Given the description of an element on the screen output the (x, y) to click on. 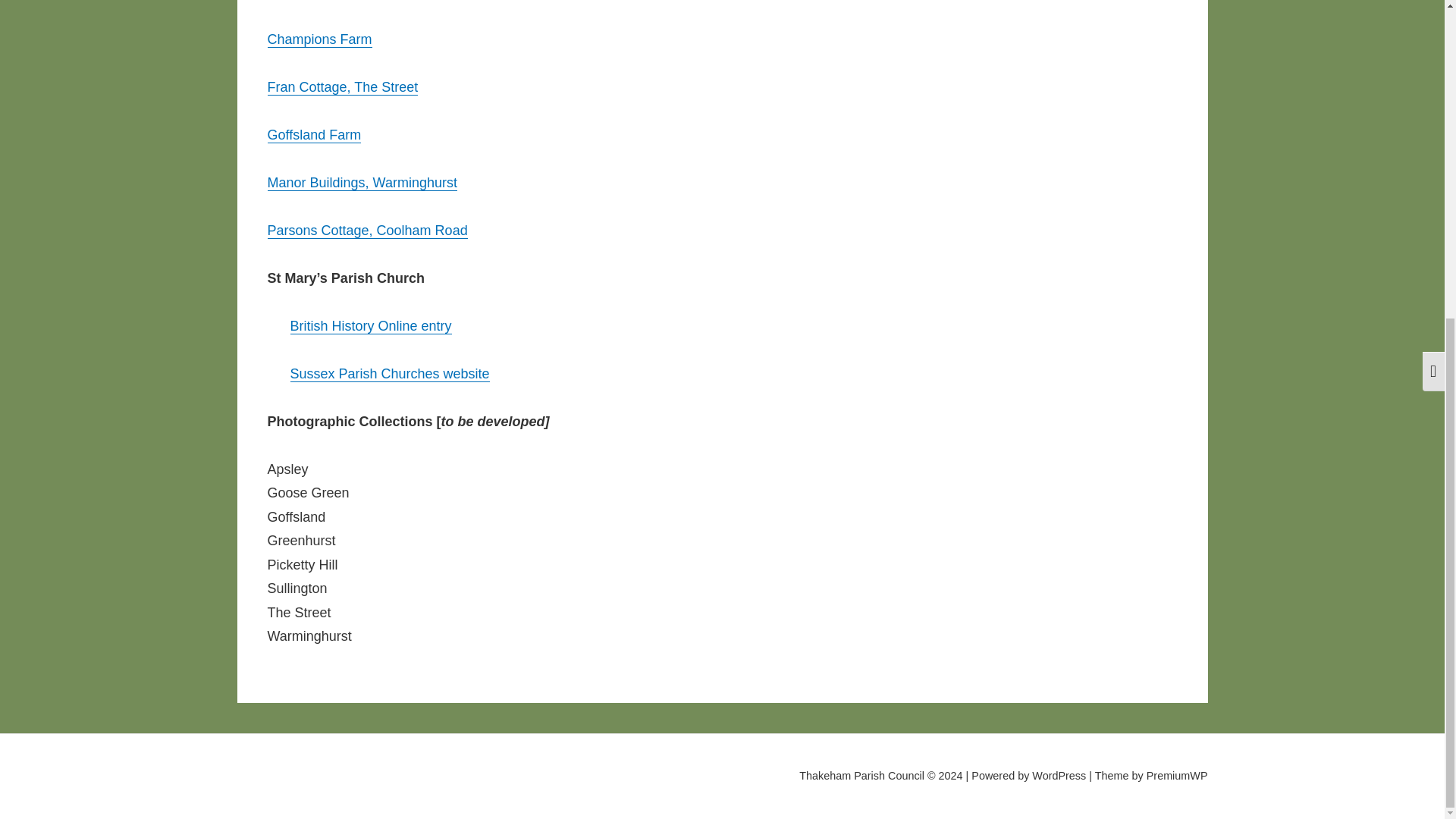
Parsons Cottage, Coolham Road (366, 230)
WordPress (1059, 775)
Champions Farm (318, 38)
Goffsland Farm (313, 134)
PremiumWP (1177, 775)
British History Online entry (370, 325)
Sussex Parish Churches website (389, 373)
Manor Buildings, Warminghurst (361, 182)
Fran Cottage, The Street (341, 87)
